Given the description of an element on the screen output the (x, y) to click on. 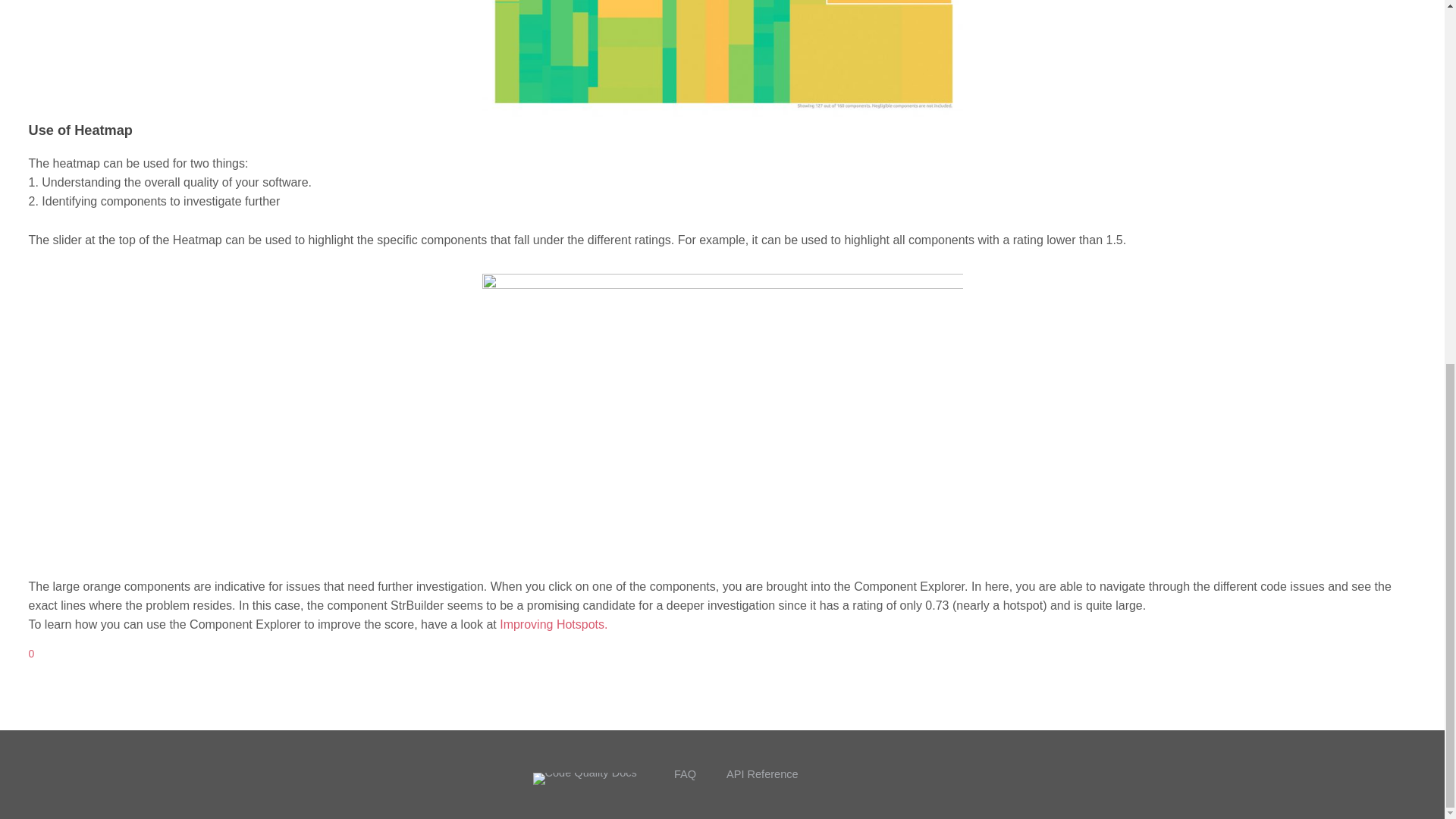
FAQ (684, 774)
API Reference (761, 774)
Improving Hotspots. (553, 624)
